Given the description of an element on the screen output the (x, y) to click on. 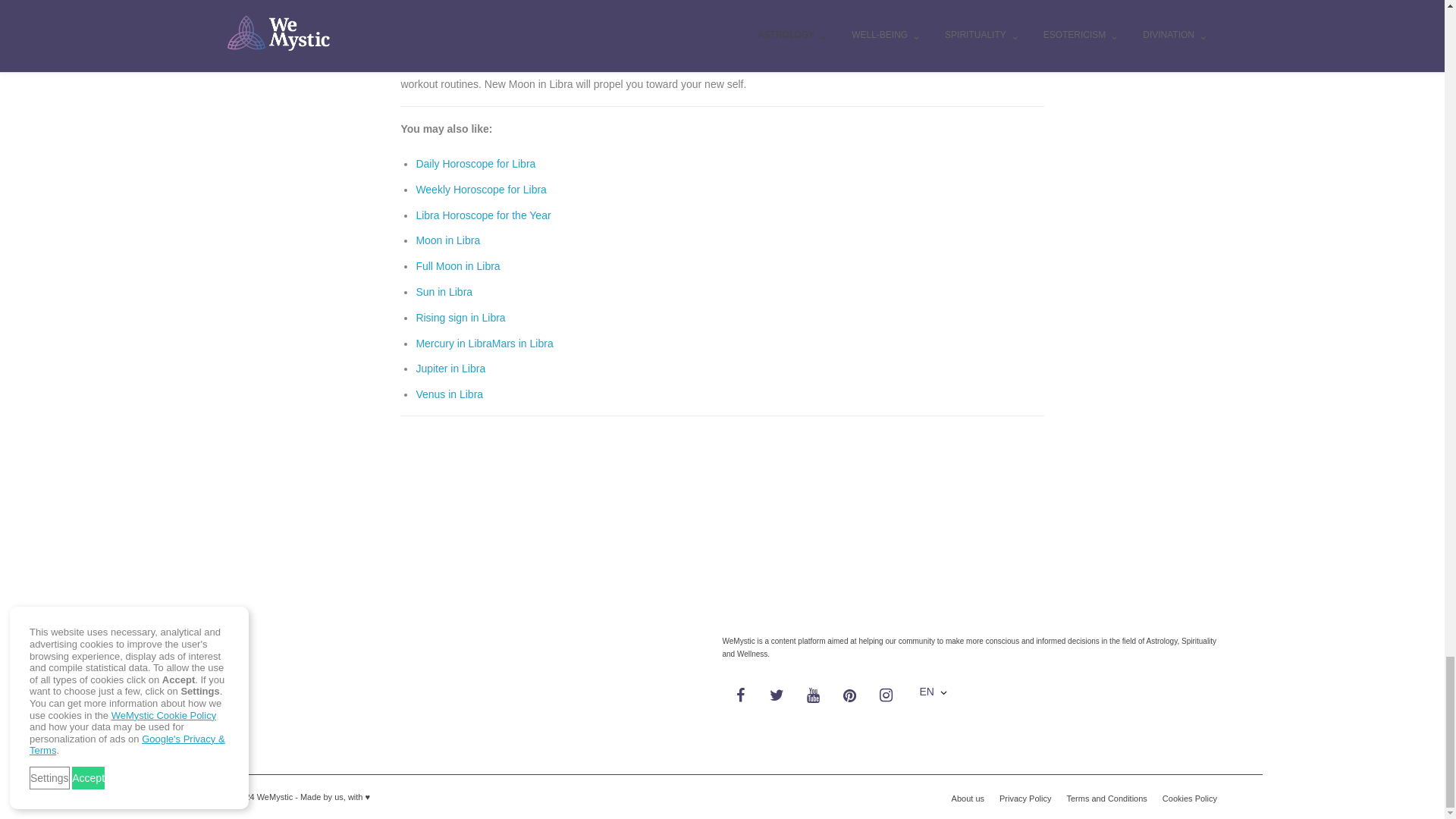
Mars in Libra (522, 343)
Venus in Libra (448, 394)
Full Moon in Libra (456, 265)
Weekly Horoscope for Libra (480, 189)
Mercury in Libra (453, 343)
Rising sign in Libra (459, 317)
Daily Horoscope for Libra (474, 163)
Moon in Libra (447, 240)
Jupiter in Libra (449, 368)
Sun in Libra (442, 291)
Taurus (438, 19)
Libra Horoscope for the Year (482, 215)
